Given the description of an element on the screen output the (x, y) to click on. 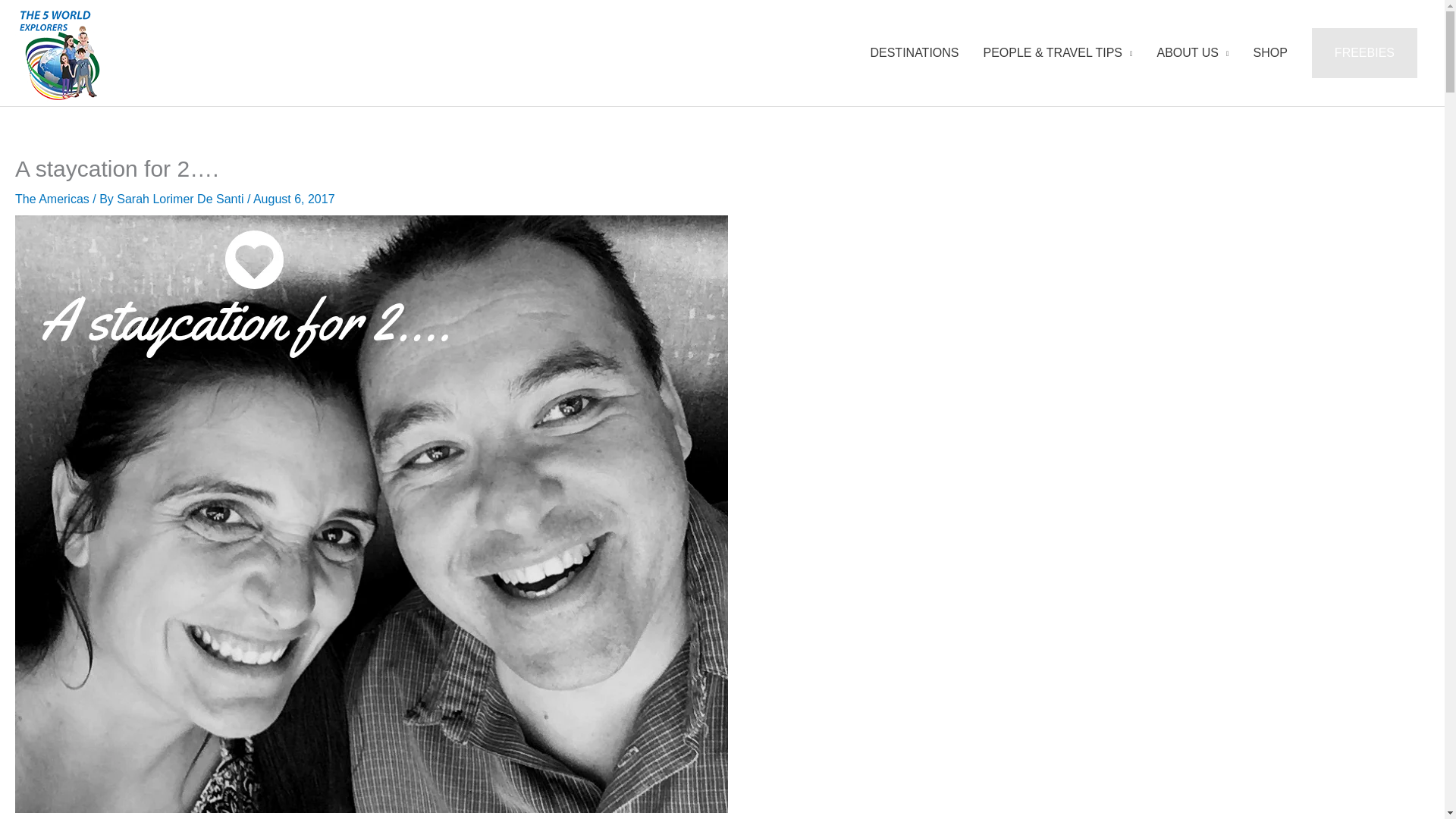
ABOUT US (1192, 53)
The Americas (51, 198)
View all posts by Sarah Lorimer De Santi (181, 198)
DESTINATIONS (914, 53)
FREEBIES (1363, 52)
Sarah Lorimer De Santi (181, 198)
